Given the description of an element on the screen output the (x, y) to click on. 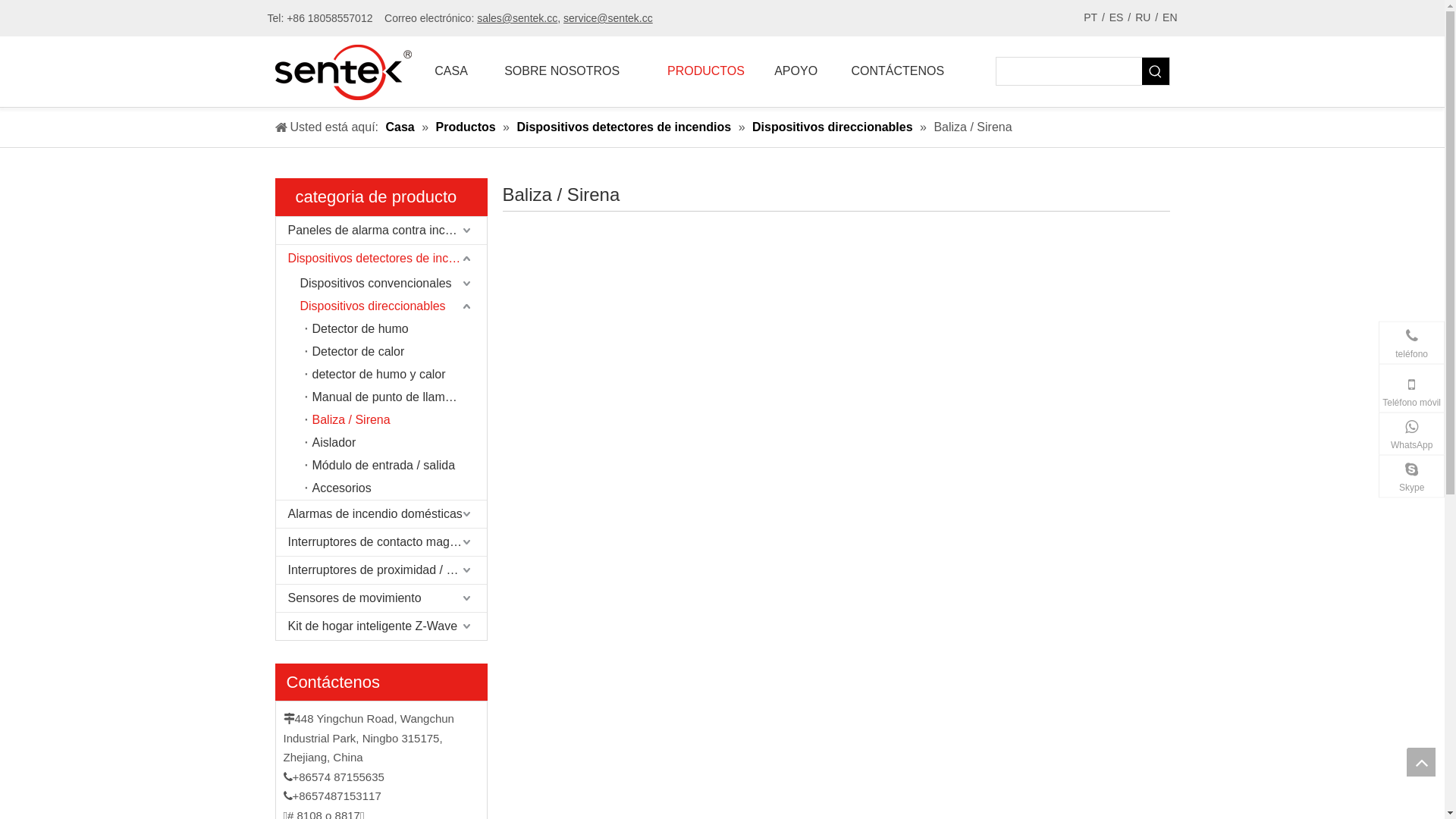
Manual de punto de llamada Element type: text (395, 396)
SOBRE NOSOTROS Element type: text (562, 71)
+86 13957414697 Element type: text (1335, 437)
CASA Element type: text (450, 71)
nbsentek Element type: text (1356, 479)
RU Element type: text (1142, 18)
Detector de calor Element type: text (395, 351)
Baliza / Sirena Element type: text (395, 419)
Dispositivos detectores de incendios Element type: text (625, 126)
ES Element type: text (1116, 18)
Dispositivos convencionales Element type: text (389, 283)
EN Element type: text (1169, 18)
+86574 87155635 Element type: text (1335, 355)
top Element type: text (1420, 761)
detector de humo y calor Element type: text (395, 374)
Casa Element type: text (401, 126)
+86 18058557012 Element type: text (1335, 388)
Dispositivos direccionables Element type: text (834, 126)
PRODUCTOS Element type: text (705, 71)
sales@sentek.cc Element type: text (516, 18)
APOYO Element type: text (795, 71)
service@sentek.cc Element type: text (607, 18)
Aislador Element type: text (395, 442)
Kit de hogar inteligente Z-Wave Element type: text (381, 626)
Sensores de movimiento Element type: text (381, 597)
Detector de humo Element type: text (395, 328)
Accesorios Element type: text (395, 487)
PT Element type: text (1090, 18)
Dispositivos direccionables Element type: text (389, 305)
Dispositivos detectores de incendios Element type: text (381, 258)
Productos Element type: text (467, 126)
Interruptores de proximidad / sensores Reed Element type: text (381, 569)
Paneles de alarma contra incendios Element type: text (381, 230)
Skype Element type: text (1411, 476)
WhatsApp Element type: text (1411, 433)
